Given the description of an element on the screen output the (x, y) to click on. 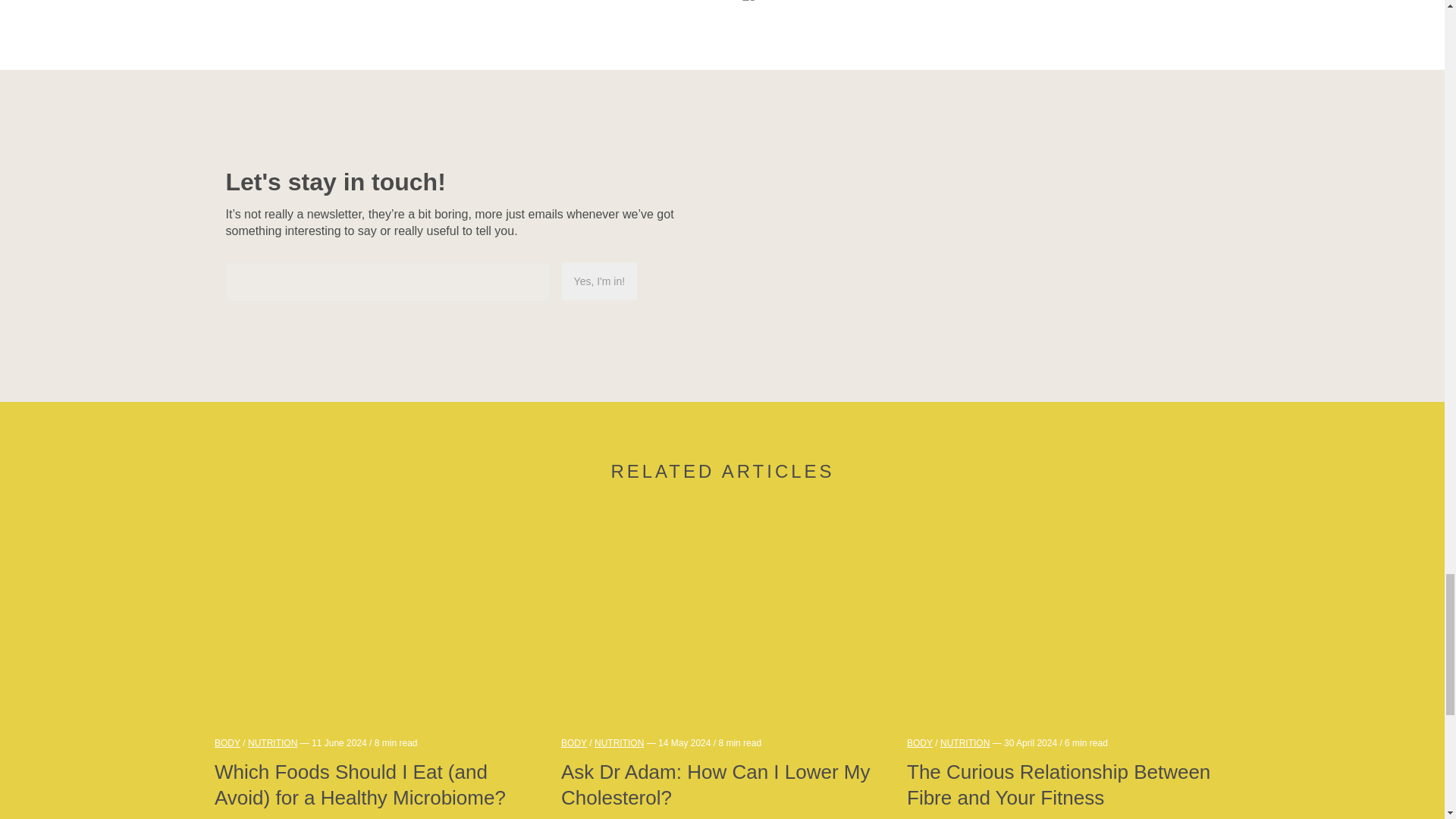
Yes, I'm in! (599, 281)
Share on Facebook (748, 4)
Email (767, 4)
Facebook (748, 4)
Share on Twitter (729, 4)
Yes, I'm in! (599, 281)
Twitter (729, 4)
